Given the description of an element on the screen output the (x, y) to click on. 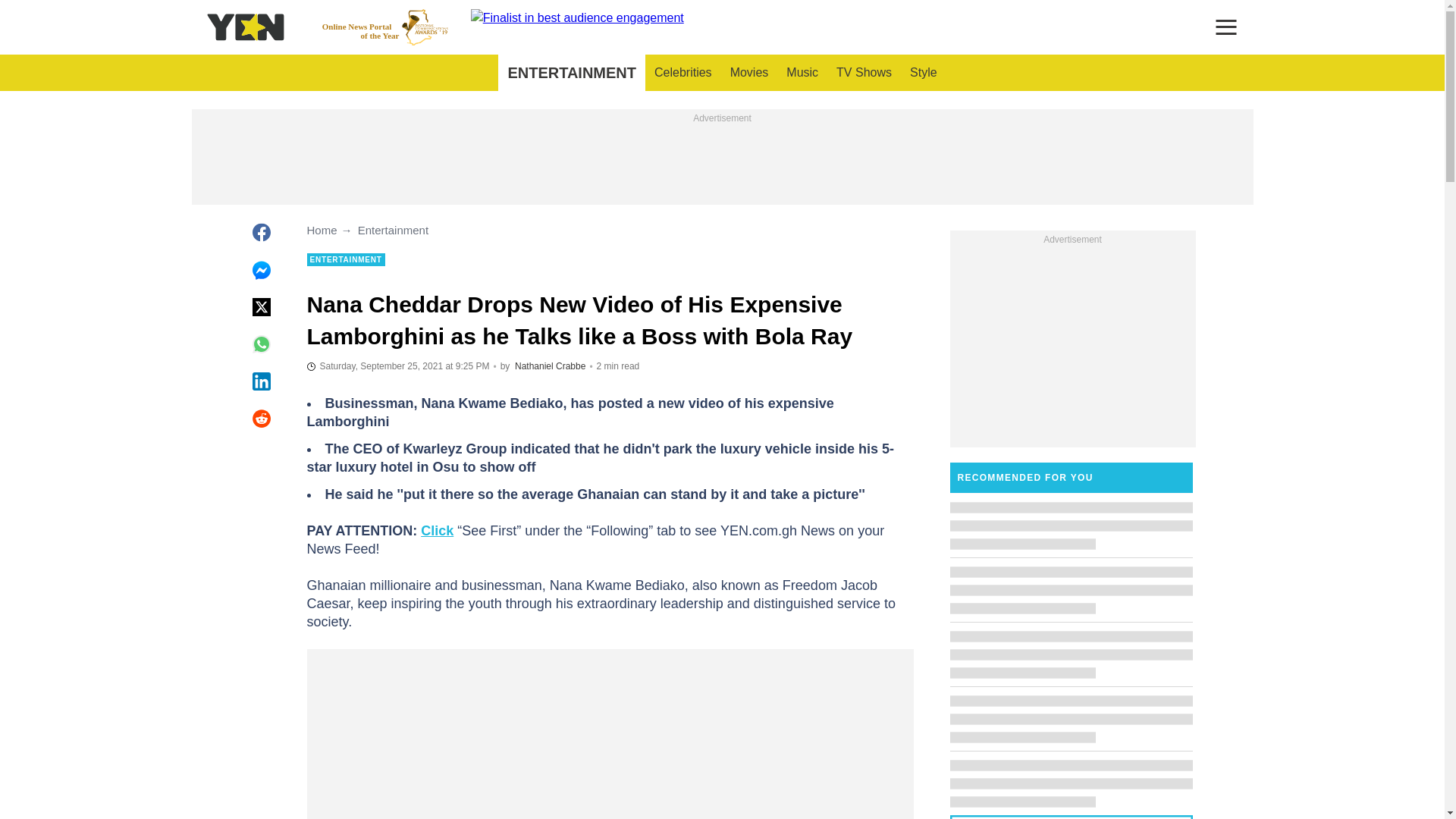
Movies (748, 72)
Author page (550, 366)
Music (802, 72)
ENTERTAINMENT (571, 72)
TV Shows (864, 72)
Style (384, 27)
2021-09-25T21:25:32Z (923, 72)
Celebrities (397, 366)
